Given the description of an element on the screen output the (x, y) to click on. 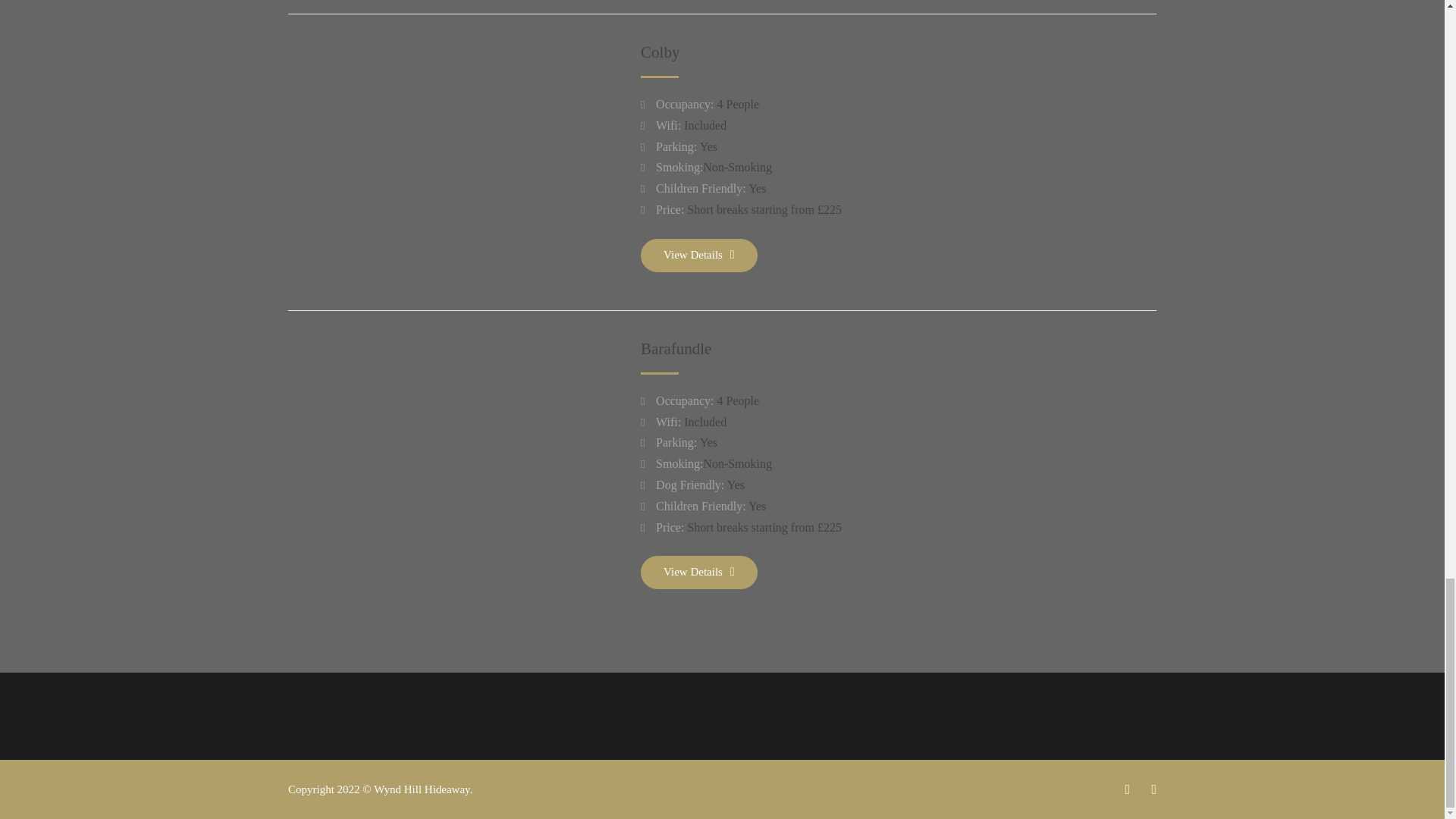
View Details (698, 572)
Barafundle (675, 348)
View Details (698, 255)
Colby (659, 52)
Colby (659, 52)
Barafundle (675, 348)
